Given the description of an element on the screen output the (x, y) to click on. 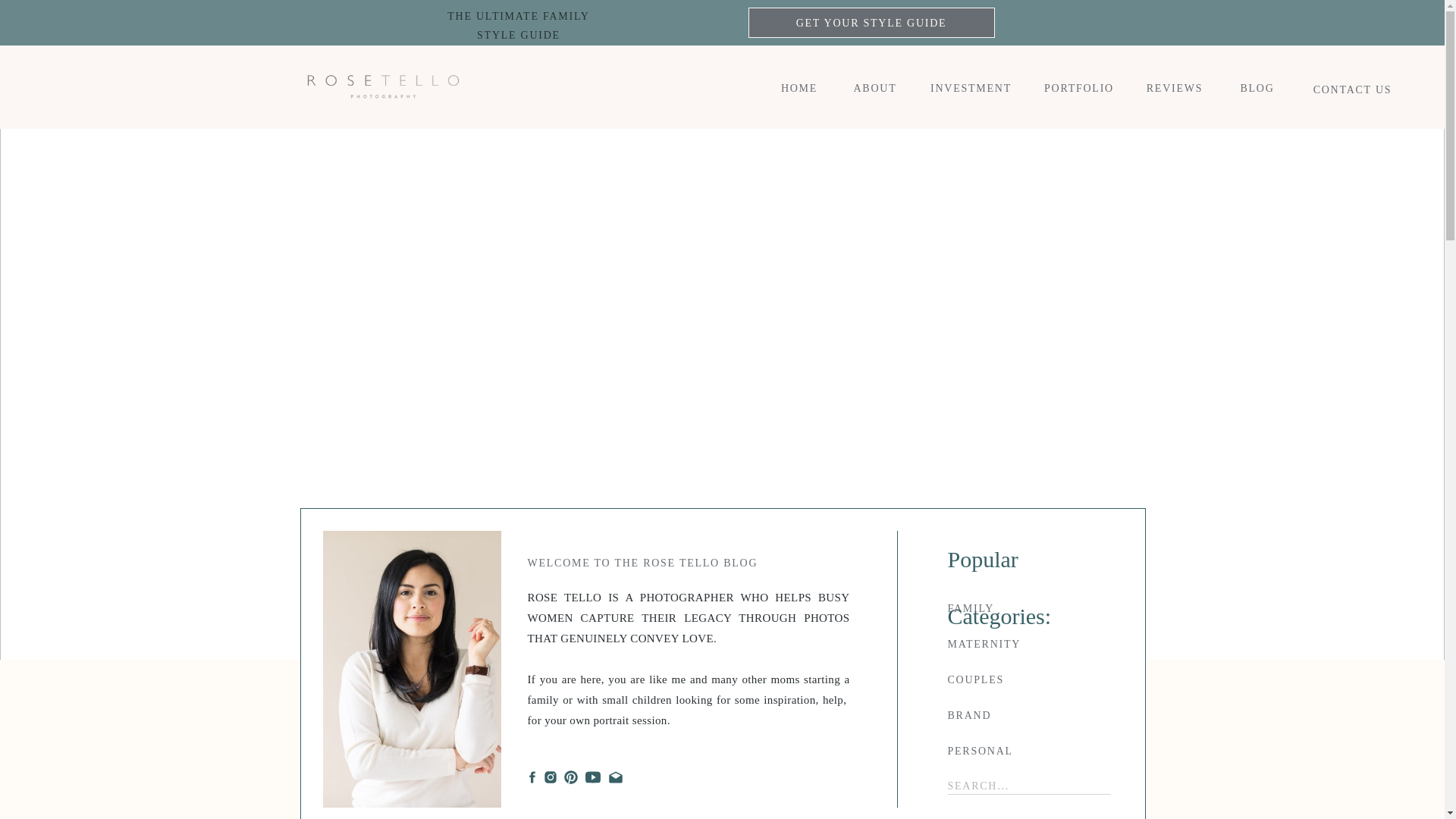
COUPLES (1023, 678)
PERSONAL (1023, 749)
INVESTMENT (970, 87)
HOME (517, 22)
REVIEWS (799, 87)
GET YOUR STYLE GUIDE (1174, 87)
FAMILY (871, 22)
ABOUT (1023, 607)
BRAND (874, 87)
CONTACT US (1023, 714)
BLOG (1352, 87)
MATERNITY (1256, 87)
PORTFOLIO (1023, 643)
